Given the description of an element on the screen output the (x, y) to click on. 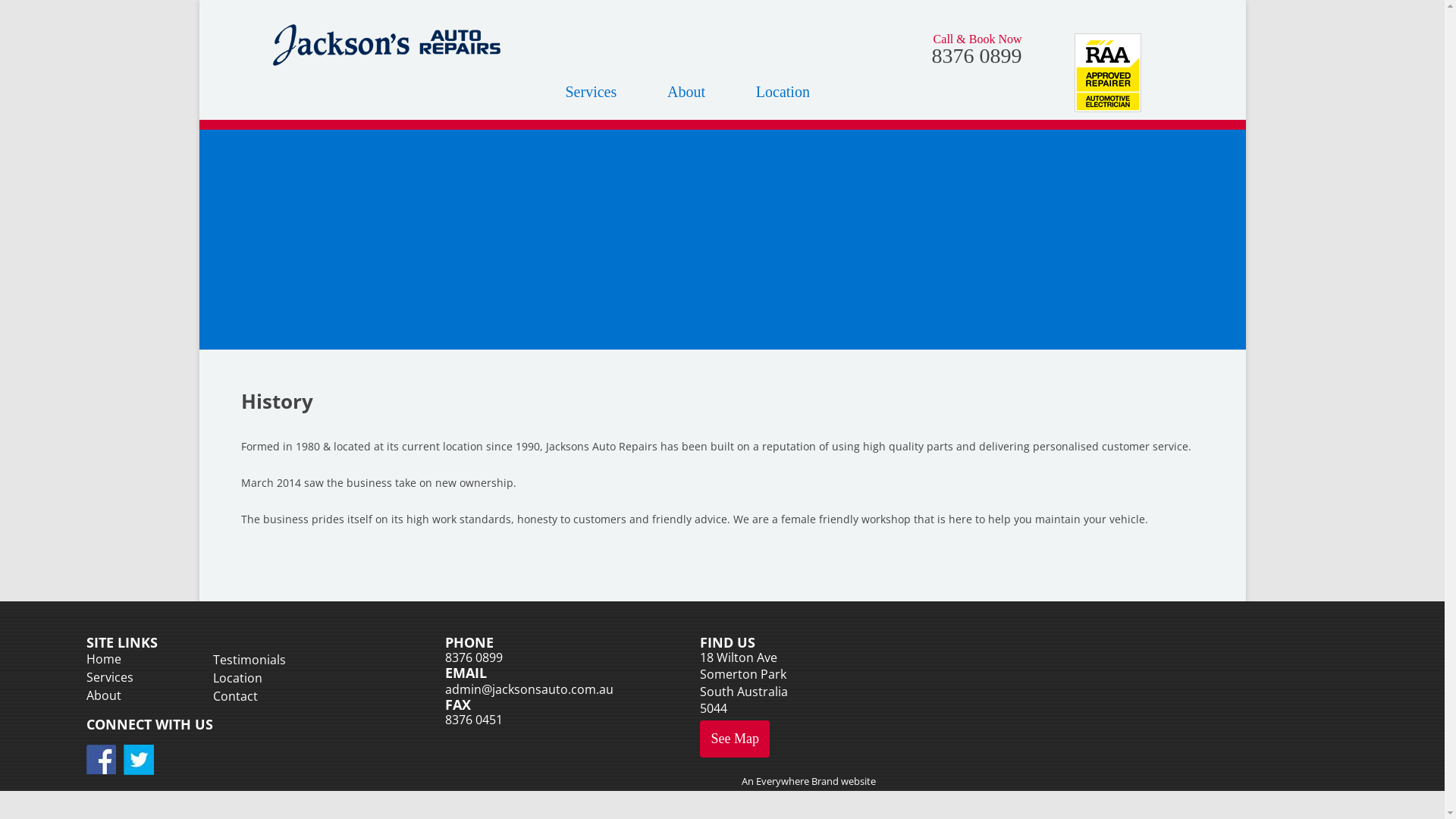
Services Element type: text (591, 91)
See Map Element type: text (734, 738)
Location Element type: text (237, 676)
admin@jacksonsauto.com.au Element type: text (529, 688)
About Element type: text (103, 694)
Home Element type: text (103, 658)
Location Element type: text (782, 91)
Contact Element type: text (235, 695)
An Everywhere Brand website Element type: text (808, 780)
About Element type: text (686, 91)
Services Element type: text (109, 676)
Testimonials Element type: text (249, 659)
